Given the description of an element on the screen output the (x, y) to click on. 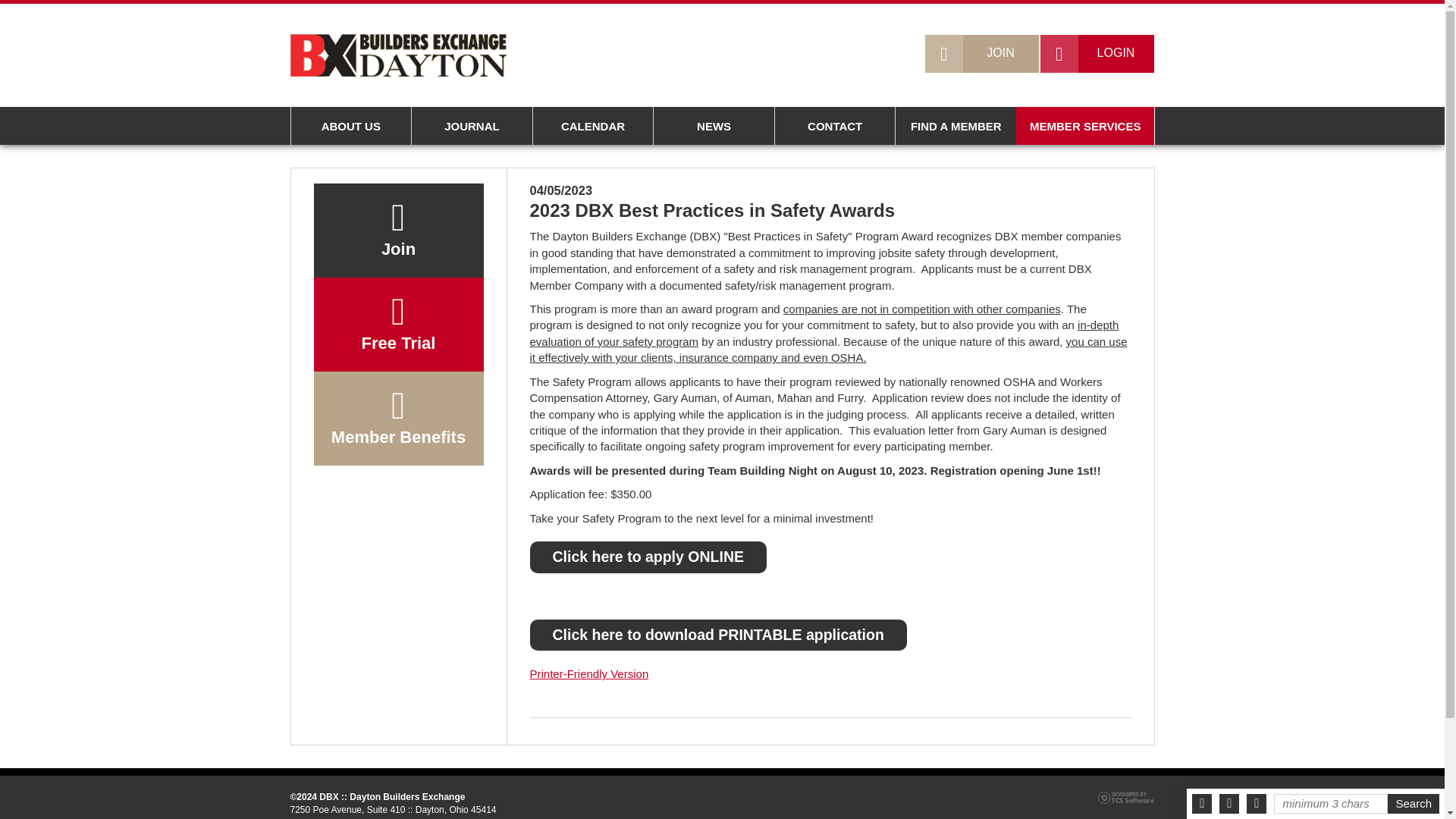
Search (1413, 803)
MEMBER SERVICES (1085, 125)
CONTACT (834, 125)
Click here to apply ONLINE (647, 556)
Search (1413, 803)
Search (1413, 803)
JOIN (981, 53)
ABOUT US (349, 125)
LOGIN (1097, 53)
Click here to download PRINTABLE application (717, 634)
JOURNAL (471, 125)
FIND A MEMBER (955, 125)
NEWS (713, 125)
Printer-Friendly Version (588, 673)
CALENDAR (592, 125)
